Given the description of an element on the screen output the (x, y) to click on. 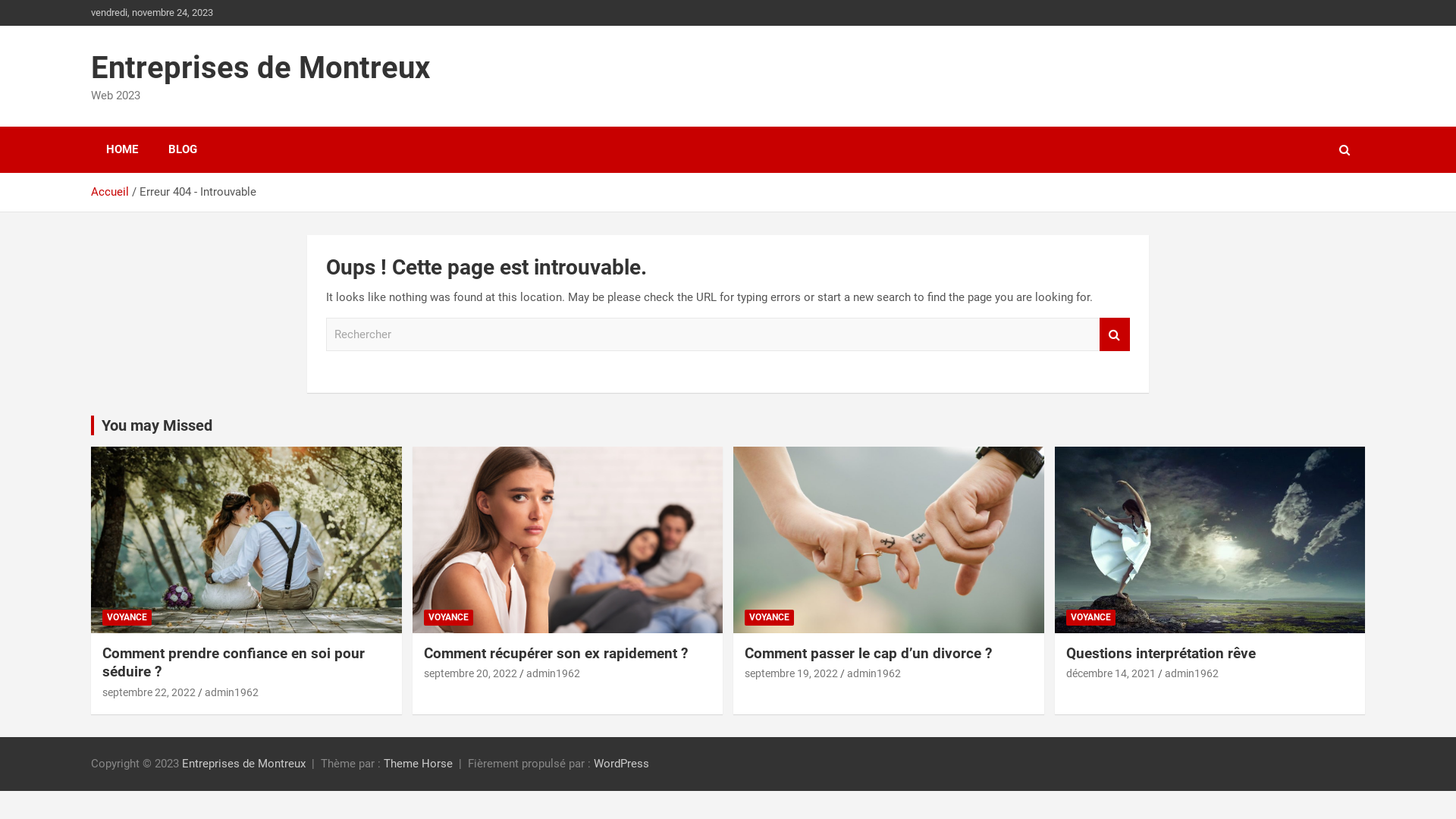
septembre 22, 2022 Element type: text (148, 692)
admin1962 Element type: text (231, 692)
Entreprises de Montreux Element type: text (260, 67)
septembre 20, 2022 Element type: text (469, 673)
Entreprises de Montreux Element type: text (243, 763)
BLOG Element type: text (182, 149)
HOME Element type: text (122, 149)
admin1962 Element type: text (873, 673)
Accueil Element type: text (109, 191)
Rechercher Element type: text (1114, 334)
Theme Horse Element type: text (417, 763)
VOYANCE Element type: text (126, 617)
WordPress Element type: text (621, 763)
admin1962 Element type: text (553, 673)
VOYANCE Element type: text (768, 617)
VOYANCE Element type: text (447, 617)
Aller au contenu Element type: text (0, 0)
admin1962 Element type: text (1191, 673)
VOYANCE Element type: text (1090, 617)
You may Missed Element type: text (156, 425)
septembre 19, 2022 Element type: text (790, 673)
